Given the description of an element on the screen output the (x, y) to click on. 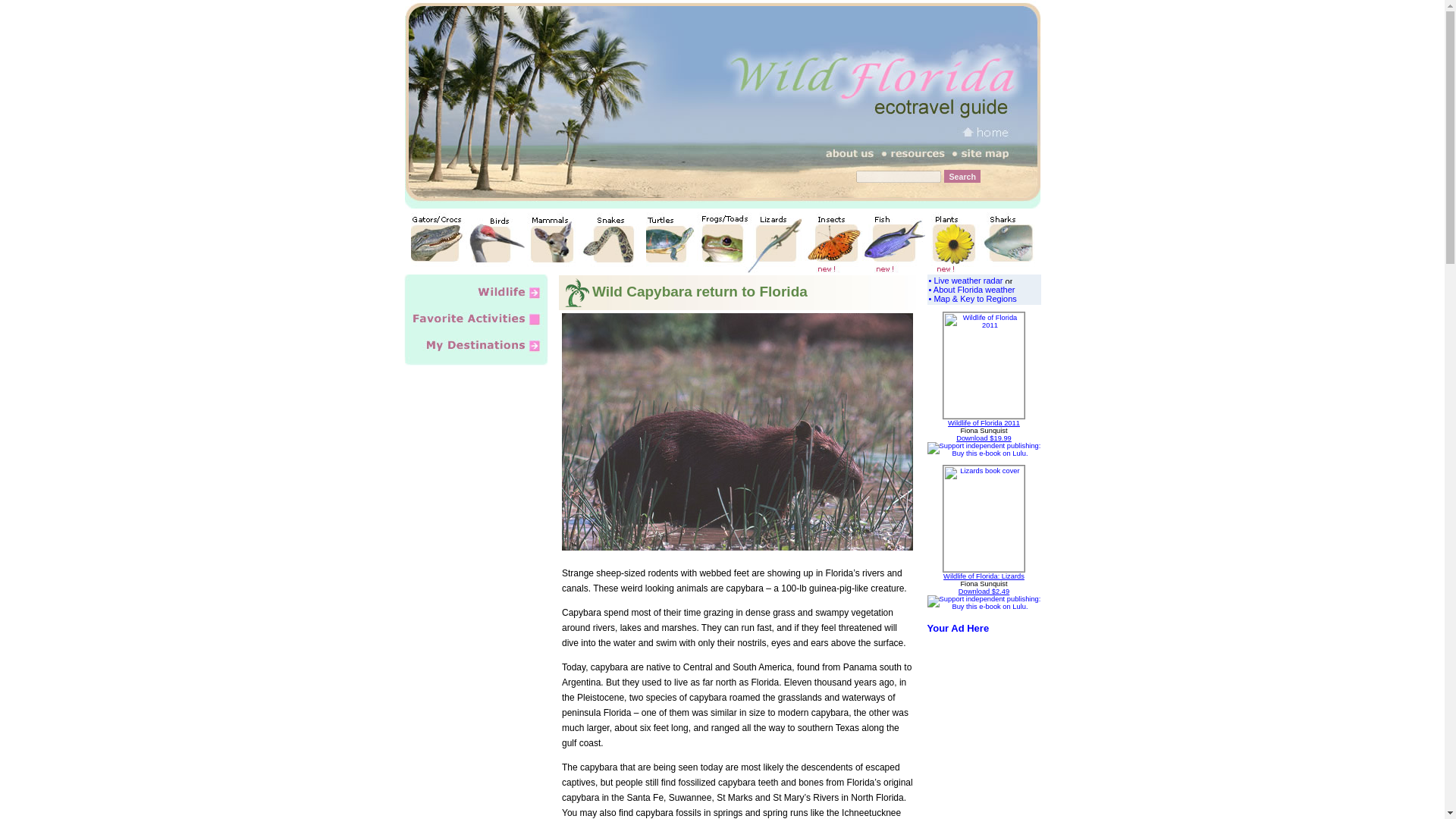
Your Ad Here (957, 627)
Wildlife of Florida 2011 (983, 422)
Wildlife of Florida: Lizards (984, 575)
Search (961, 175)
Search (961, 175)
